Given the description of an element on the screen output the (x, y) to click on. 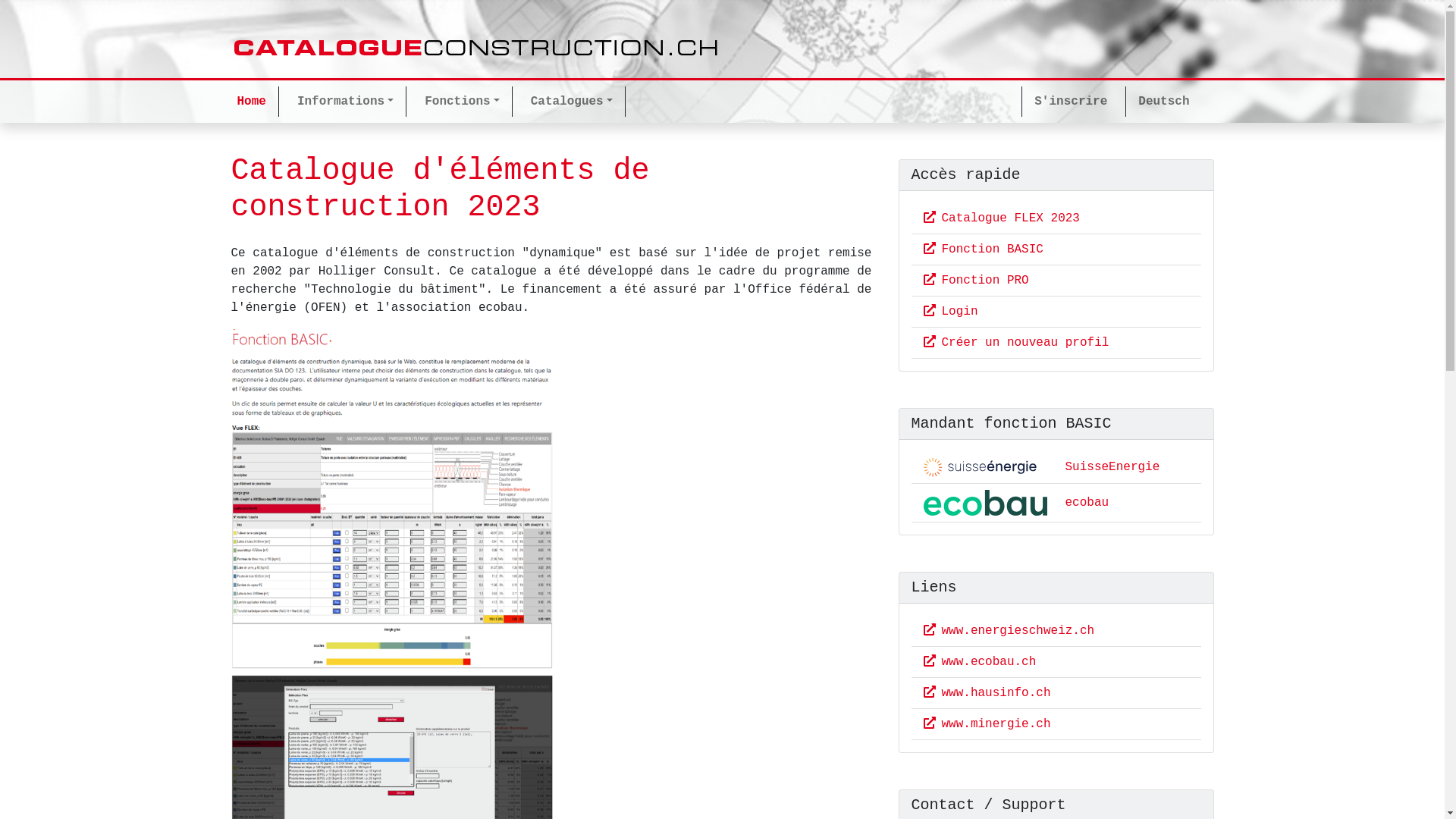
Informations Element type: text (348, 101)
Home Element type: text (253, 101)
www.ecobau.ch Element type: text (979, 661)
Fonctions Element type: text (464, 101)
ecobau Element type: text (1086, 502)
Login Element type: text (950, 311)
Catalogues Element type: text (574, 101)
ecobau Element type: hover (985, 502)
www.hausinfo.ch Element type: text (987, 692)
Fonction PRO Element type: text (976, 280)
Catalogconstruction Element type: hover (475, 47)
Fonction BASIC Element type: text (983, 249)
Catalogue FLEX 2023 Element type: text (1001, 218)
SuisseEnergie Element type: text (1111, 467)
S'inscrire Element type: text (1067, 101)
www.energieschweiz.ch Element type: text (1009, 630)
SuisseEnergie Element type: hover (985, 467)
Deutsch Element type: text (1160, 101)
www.minergie.ch Element type: text (987, 724)
